Given the description of an element on the screen output the (x, y) to click on. 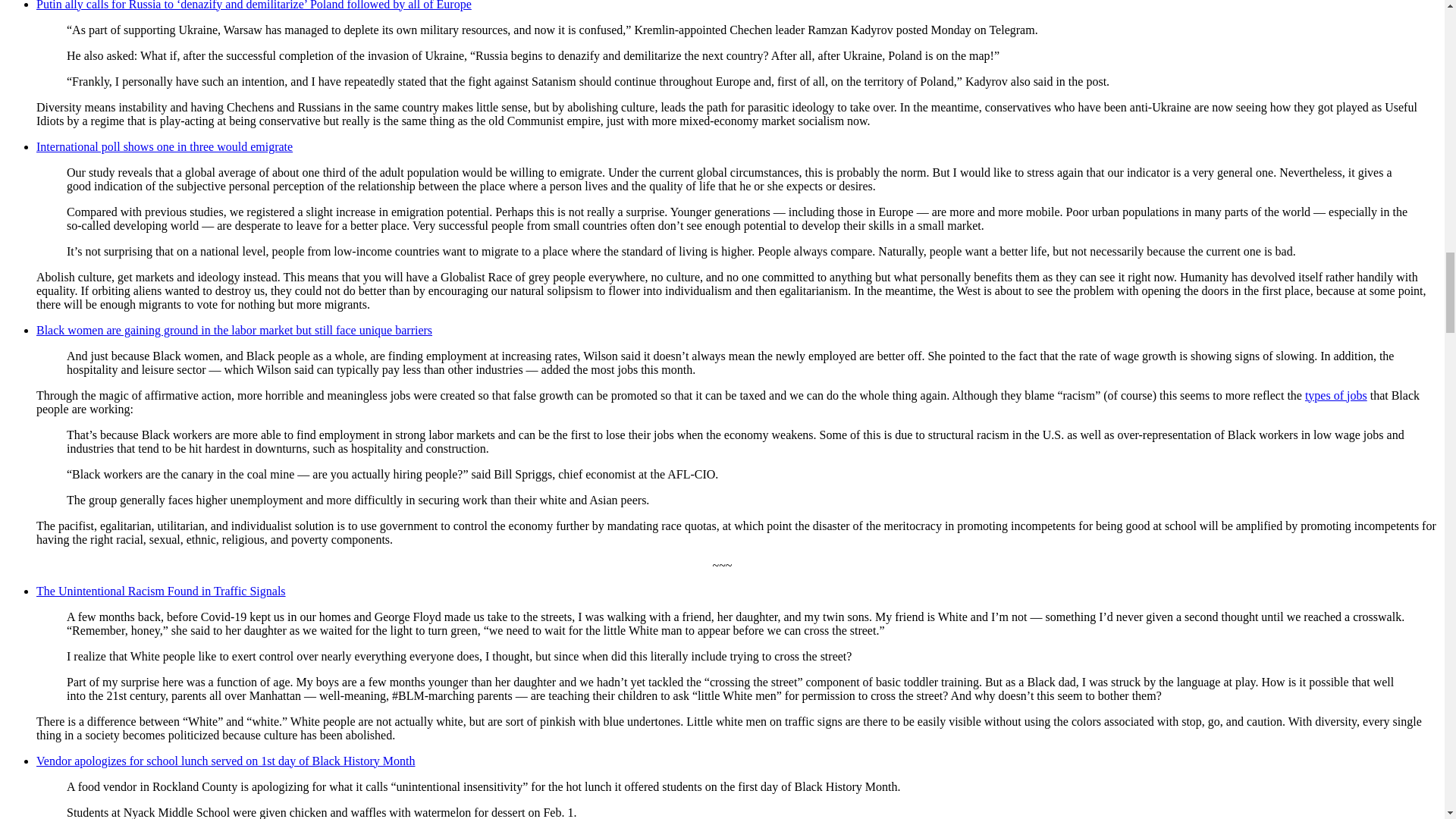
types of jobs (1335, 395)
The Unintentional Racism Found in Traffic Signals (160, 590)
International poll shows one in three would emigrate (164, 146)
